Given the description of an element on the screen output the (x, y) to click on. 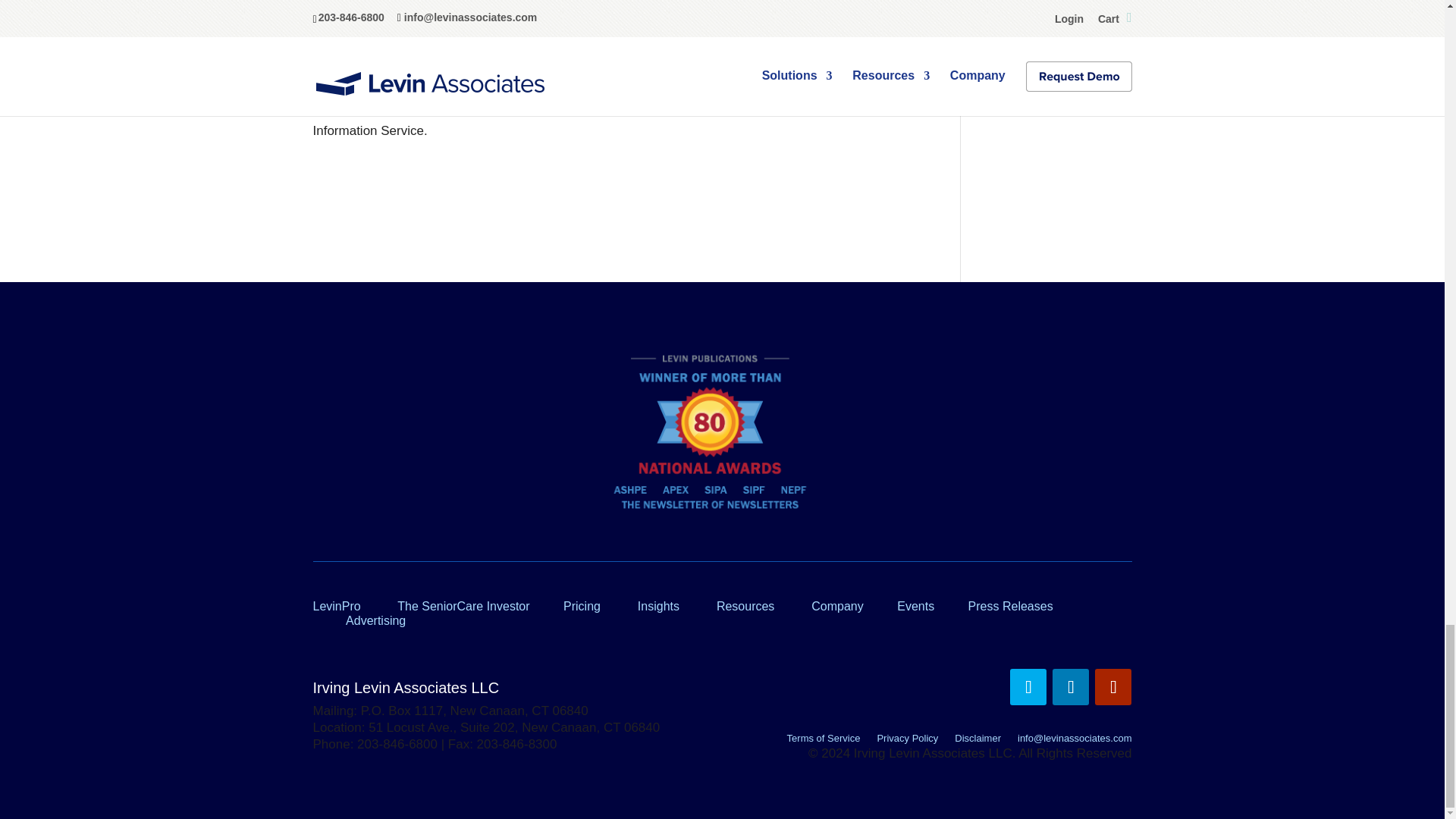
Advertising (376, 620)
Company (836, 605)
The SeniorCare Investor (463, 605)
Follow on Youtube (1112, 687)
Follow on LinkedIn (1070, 687)
Insights (658, 605)
LevinPro (336, 605)
Follow on Twitter (1028, 687)
Pricing (581, 605)
Resources (745, 605)
Events (915, 605)
Press Releases (1010, 605)
